Given the description of an element on the screen output the (x, y) to click on. 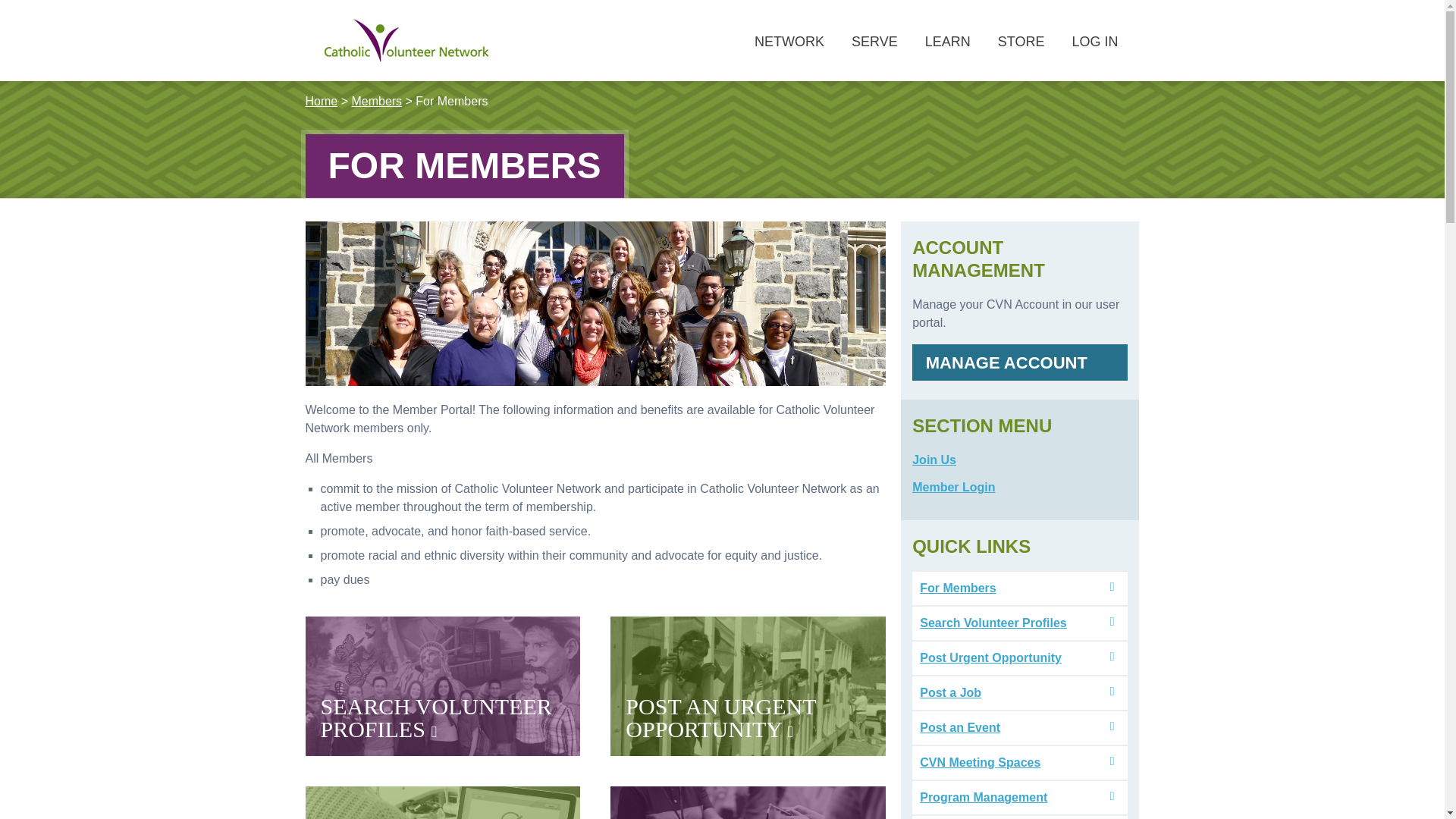
SERVE (874, 41)
Home (320, 101)
Catholic Volunteer Network (720, 717)
image 11 (405, 44)
STORE (435, 717)
NETWORK (441, 802)
Go to Catholic Volunteer Network. (1021, 41)
LEARN (789, 41)
Go to Members. (320, 101)
LOG IN (947, 41)
Members (375, 101)
